Given the description of an element on the screen output the (x, y) to click on. 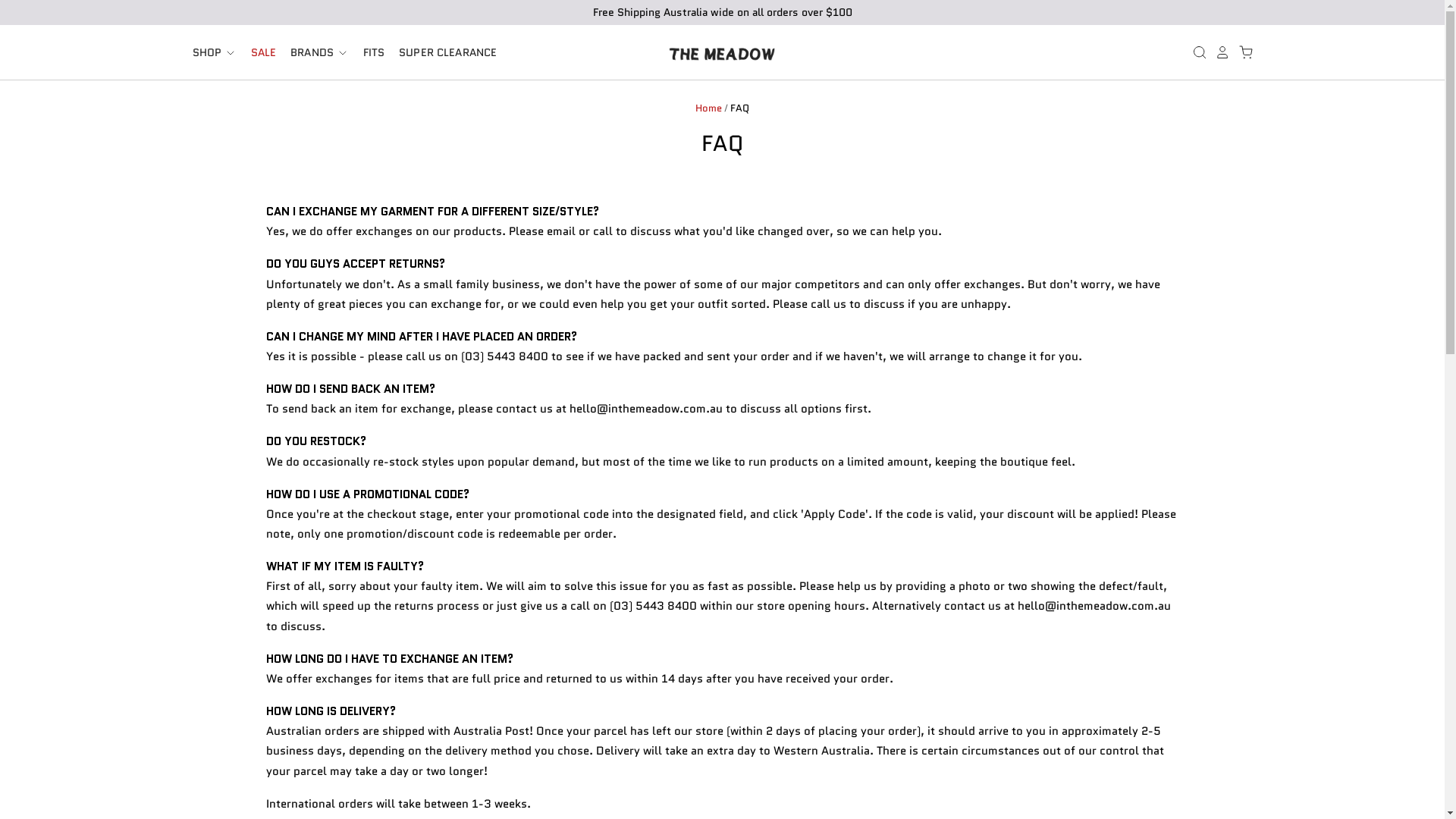
SHOP Element type: text (214, 52)
Home Element type: text (708, 107)
Free Shipping Australia wide on all orders over $100 Element type: text (722, 12)
hello@inthemeadow.com.au Element type: text (1093, 605)
FITS Element type: text (367, 52)
BRANDS Element type: text (312, 52)
SALE Element type: text (256, 52)
hello@inthemeadow.com.au Element type: text (645, 408)
SUPER CLEARANCE Element type: text (441, 52)
